Given the description of an element on the screen output the (x, y) to click on. 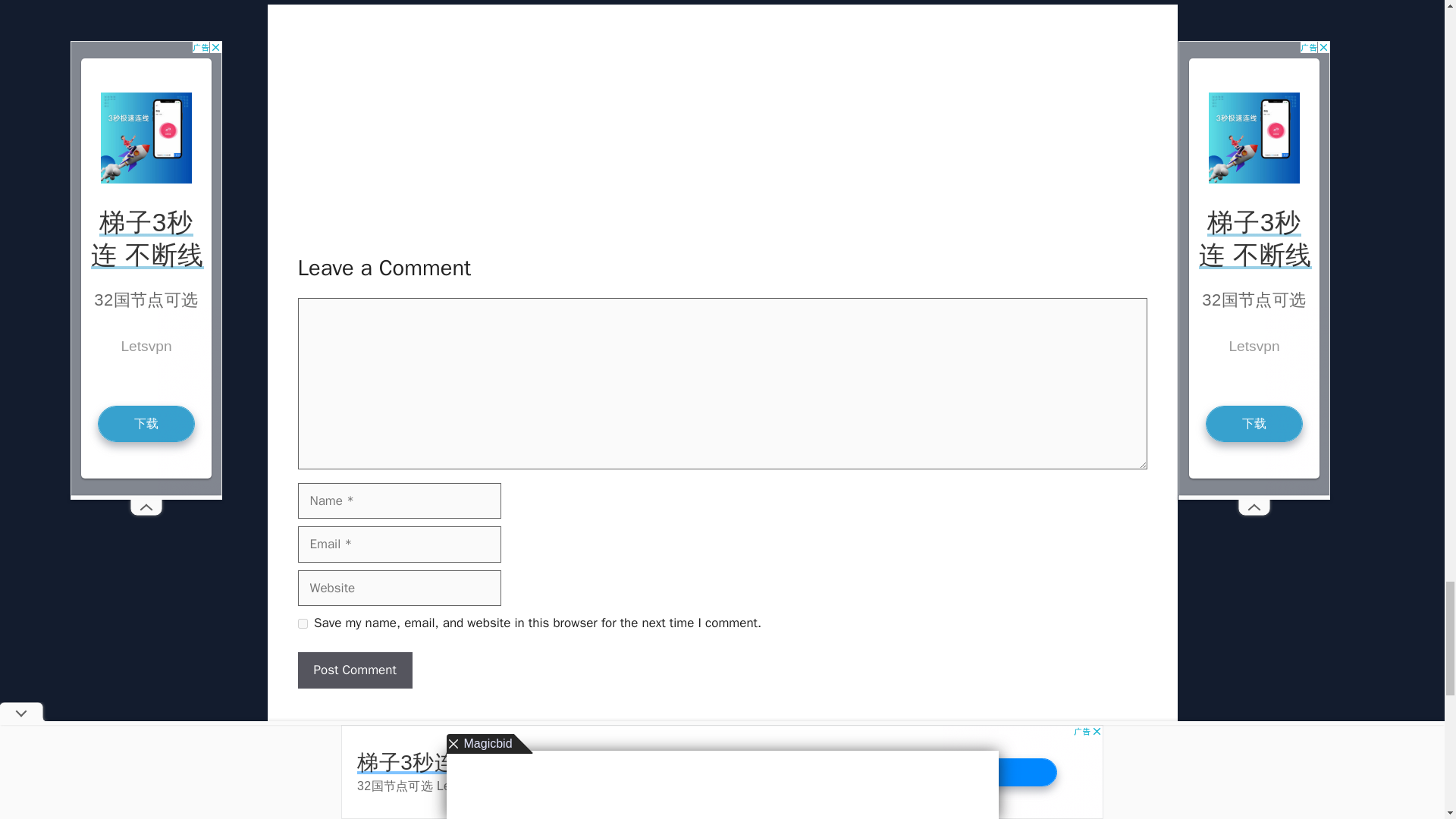
Post Comment (354, 669)
yes (302, 623)
